Given the description of an element on the screen output the (x, y) to click on. 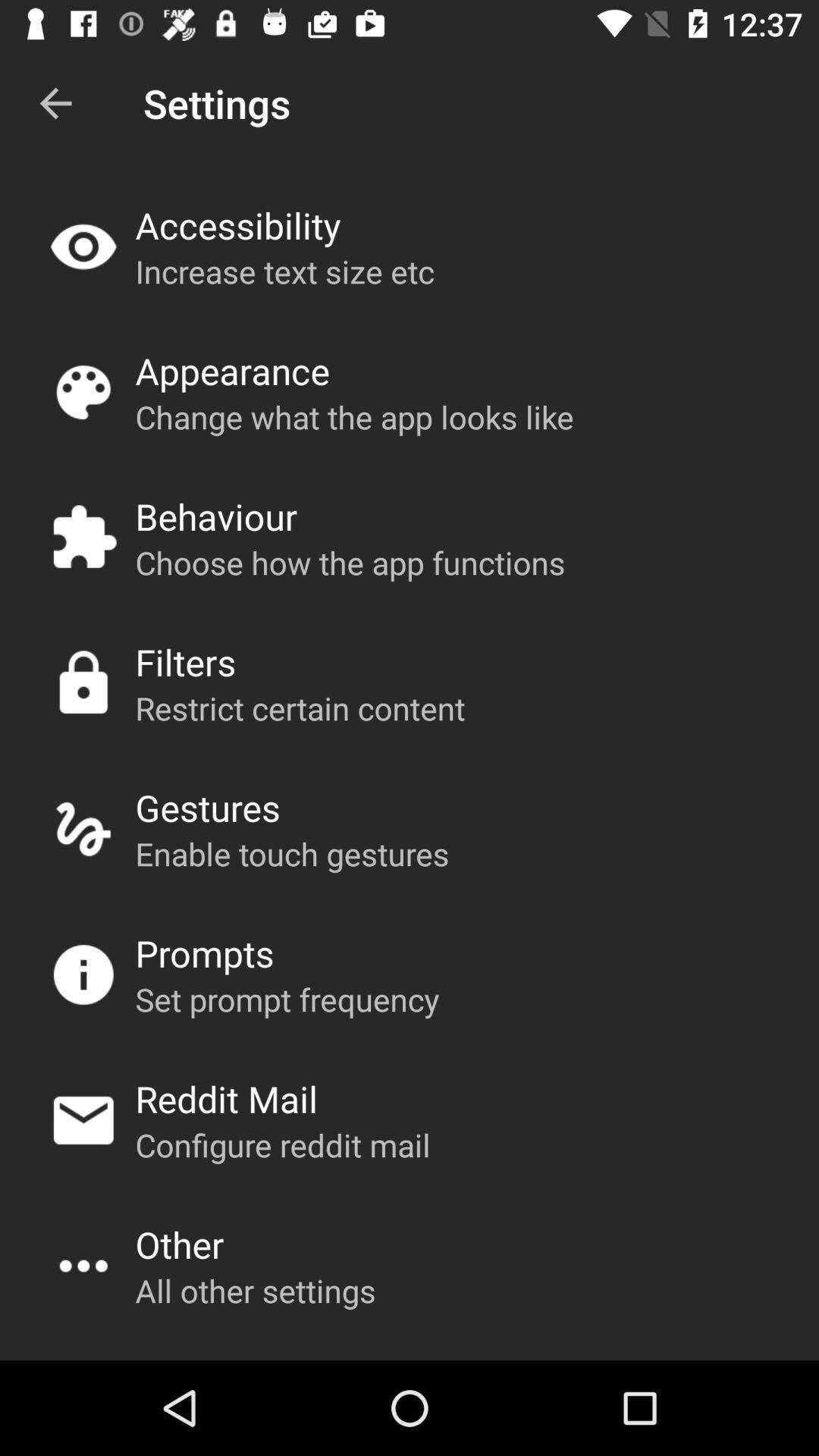
launch the icon below the other icon (255, 1290)
